Given the description of an element on the screen output the (x, y) to click on. 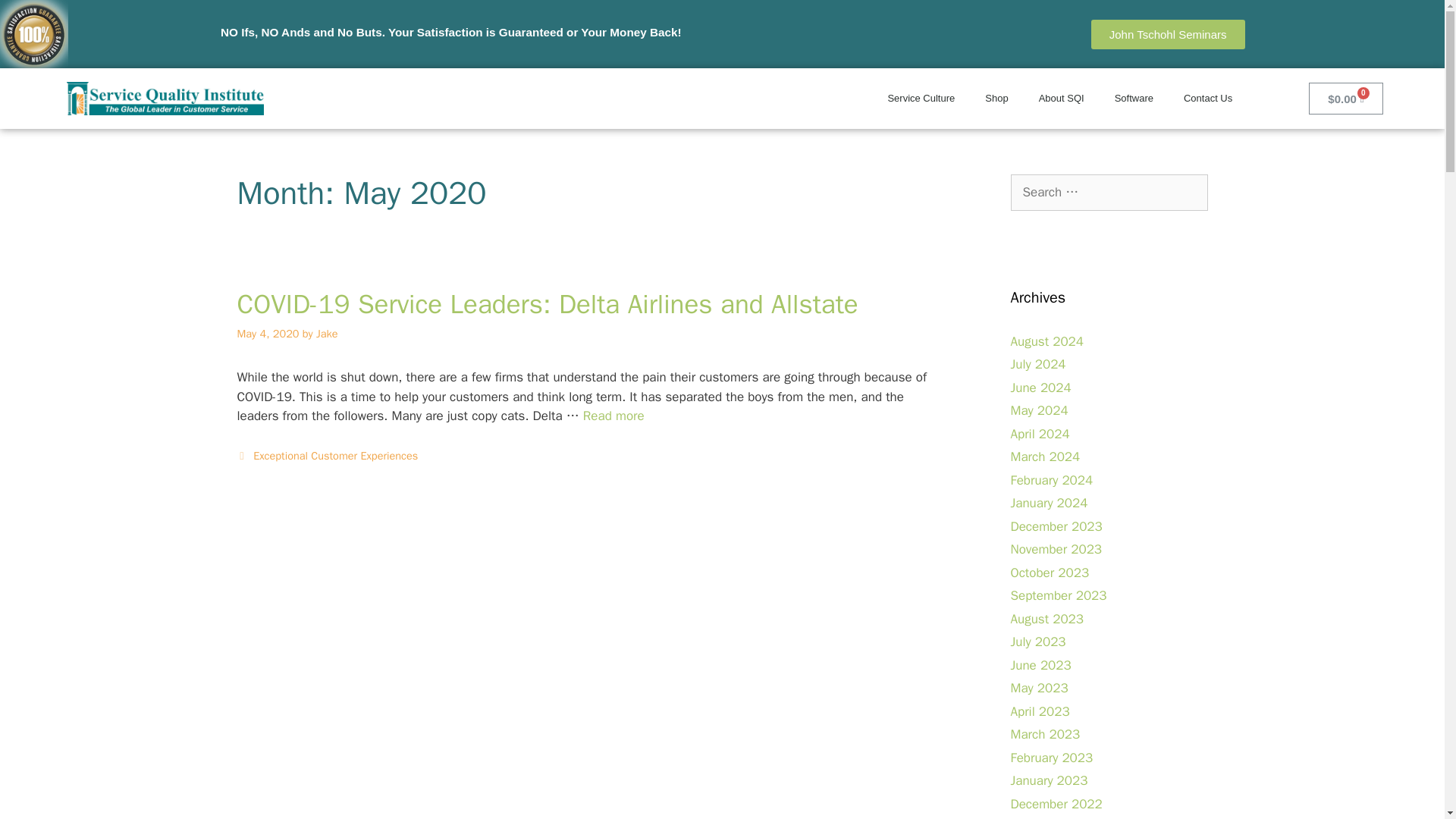
Search for: (1108, 192)
John Tschohl Seminars (1167, 34)
View all posts by Jake (326, 333)
COVID-19 Service Leaders: Delta Airlines and Allstate (614, 415)
About SQI (1061, 98)
Service Culture (920, 98)
Shop (996, 98)
